Given the description of an element on the screen output the (x, y) to click on. 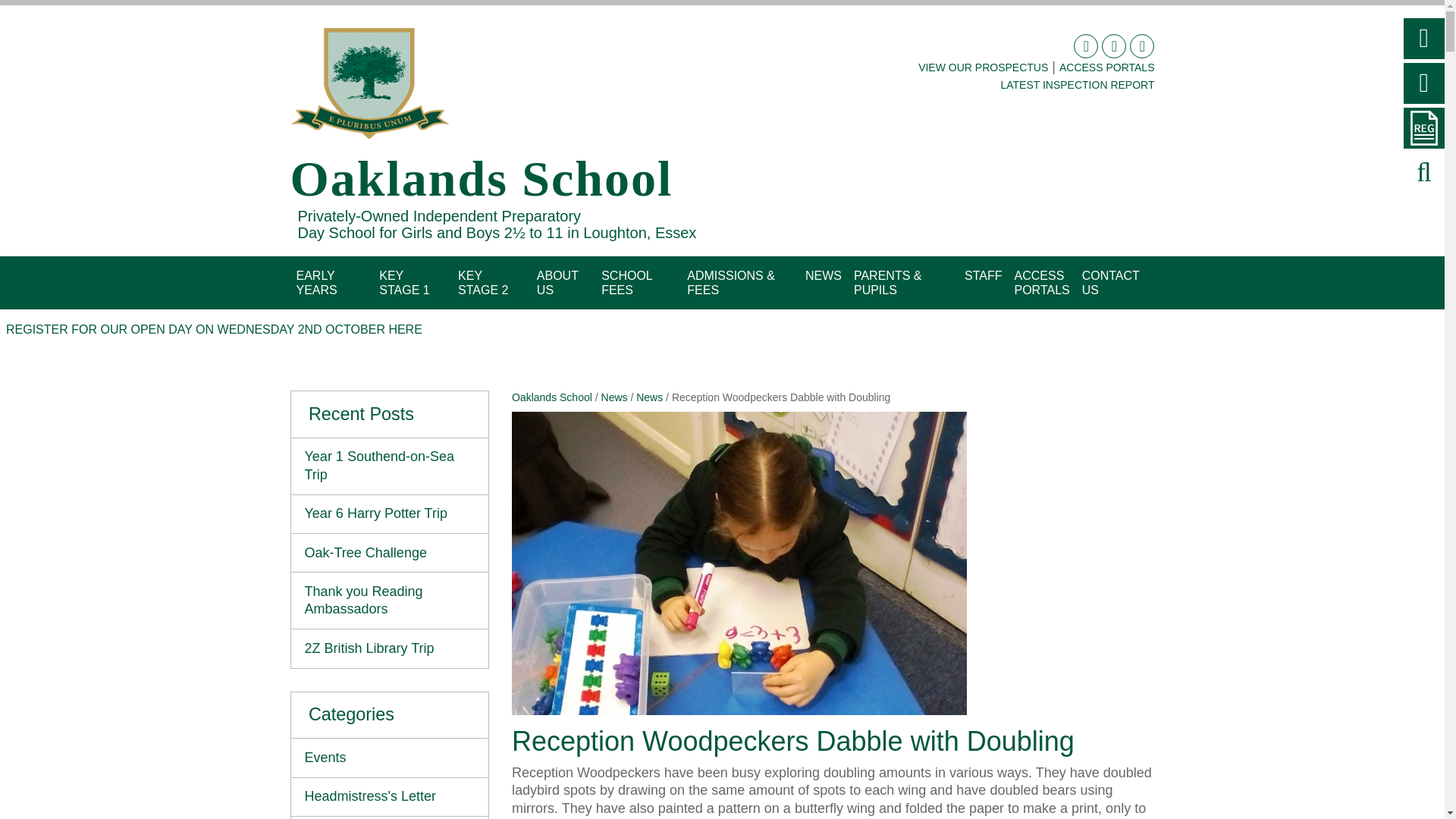
EARLY YEARS (330, 282)
Skip to content (301, 264)
Oaklands School (368, 82)
Go to the News Category archives. (649, 397)
ACCESS PORTALS (1106, 67)
KEY STAGE 2 (491, 282)
VIEW OUR PROSPECTUS (983, 67)
KEY STAGE 1 (411, 282)
Go to News. (614, 397)
Skip to content (301, 264)
